Given the description of an element on the screen output the (x, y) to click on. 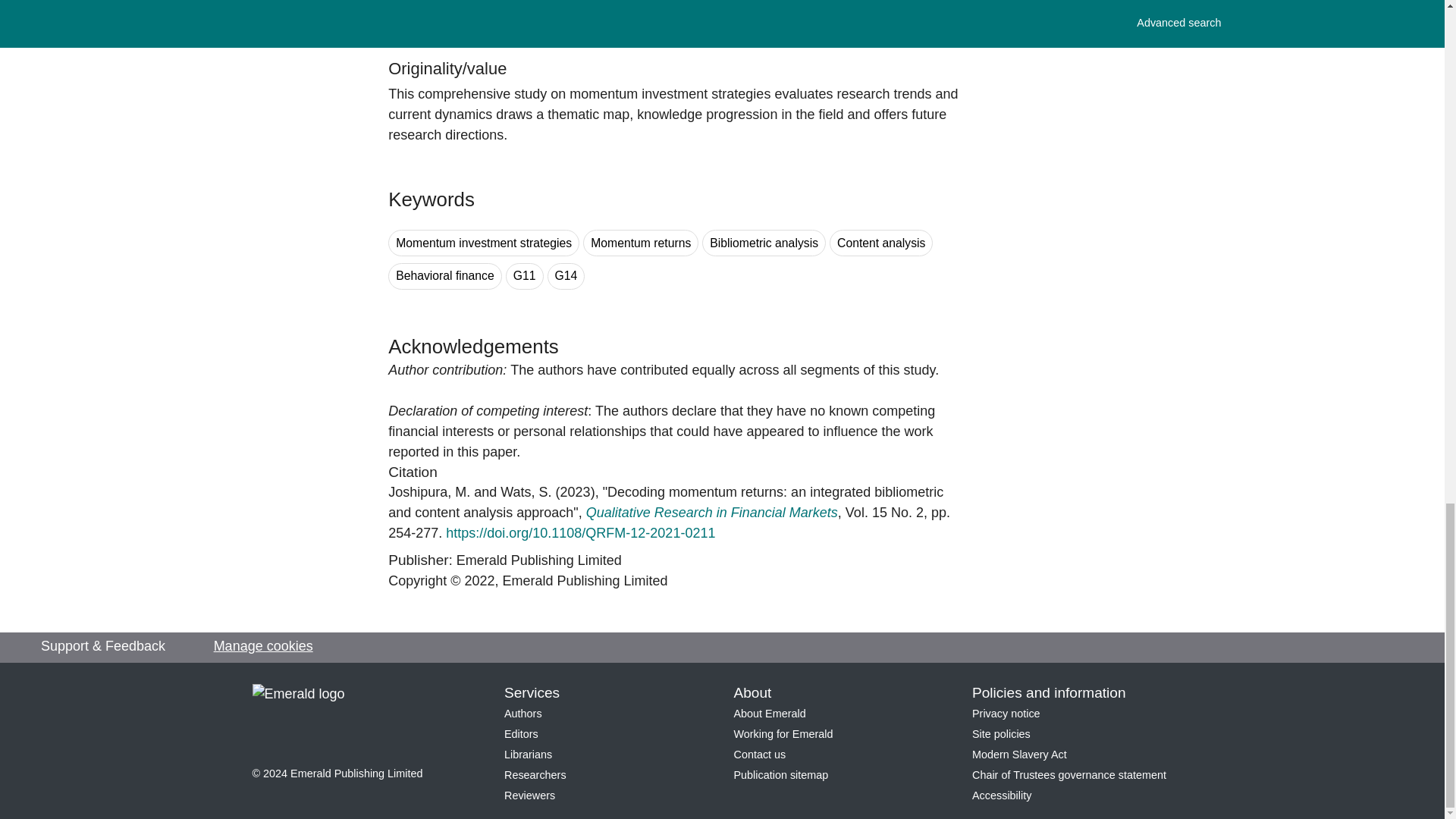
Search for keyword Content analysis (881, 243)
Wats, S. (525, 491)
Search for keyword G11 (524, 275)
Manage cookies (263, 646)
Qualitative Research in Financial Markets (712, 512)
Content analysis (881, 243)
Behavioral finance (445, 275)
Editors (520, 734)
Search for keyword G14 (566, 275)
Joshipura, M. (429, 491)
Mayank Joshipura (429, 491)
Search for keyword Bibliometric analysis (763, 243)
Sangeeta Wats (525, 491)
Authors (522, 713)
Librarians (527, 754)
